Given the description of an element on the screen output the (x, y) to click on. 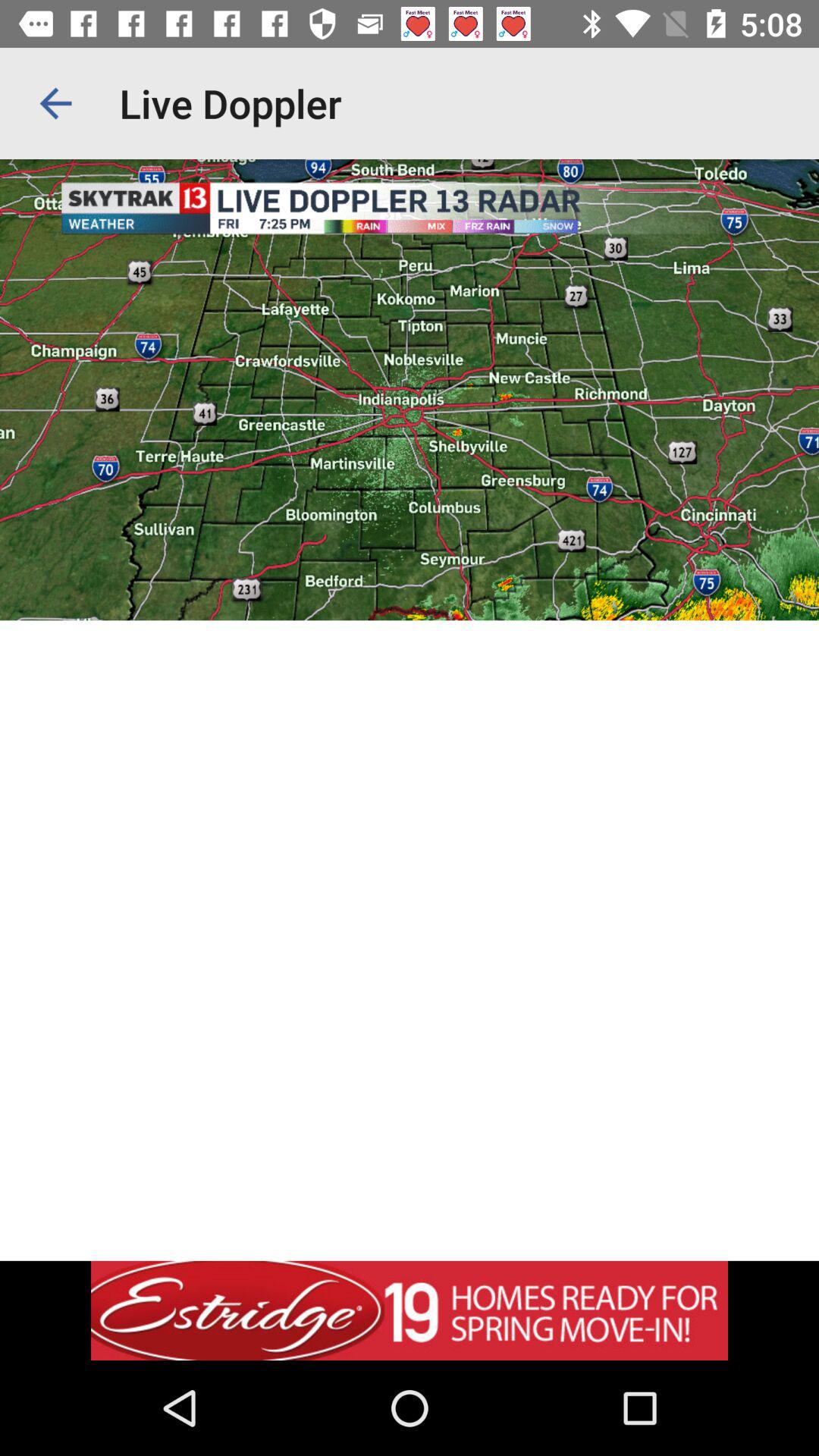
advertisement (409, 1310)
